Given the description of an element on the screen output the (x, y) to click on. 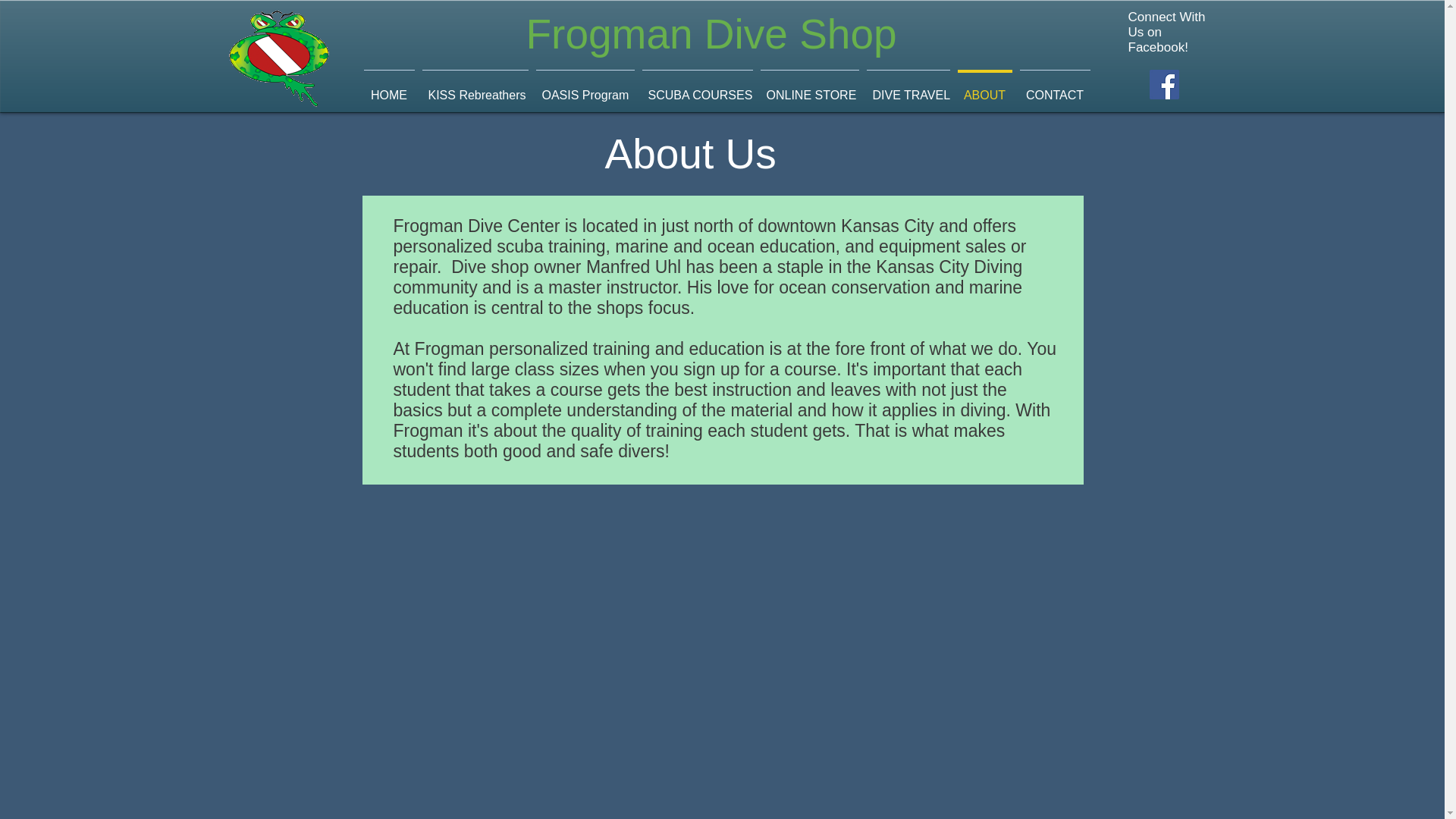
CONTACT (1055, 88)
SCUBA COURSES (698, 88)
KISS Rebreathers (475, 88)
ABOUT (984, 88)
ONLINE STORE (810, 88)
DIVE TRAVEL (908, 88)
HOME (388, 88)
OASIS Program (585, 88)
